Given the description of an element on the screen output the (x, y) to click on. 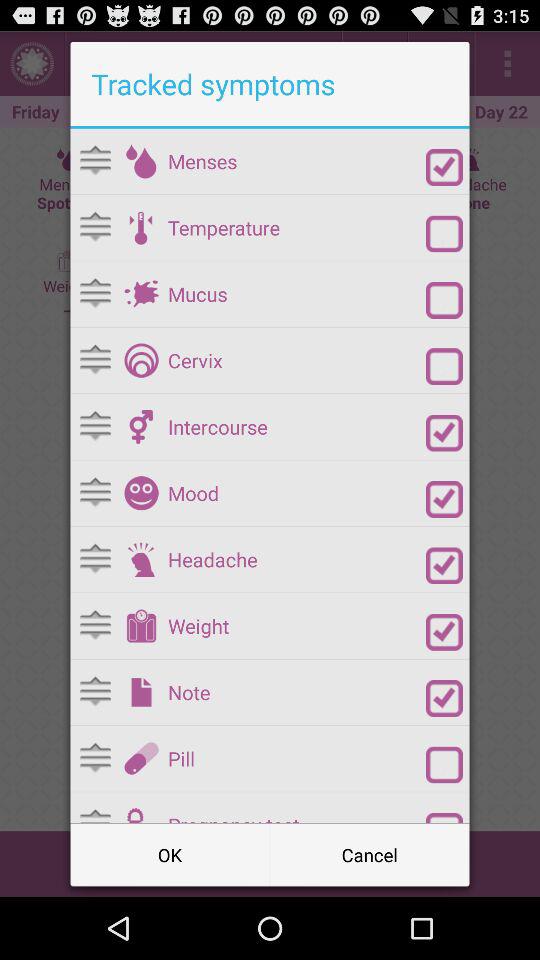
select your temperature level (141, 227)
